Given the description of an element on the screen output the (x, y) to click on. 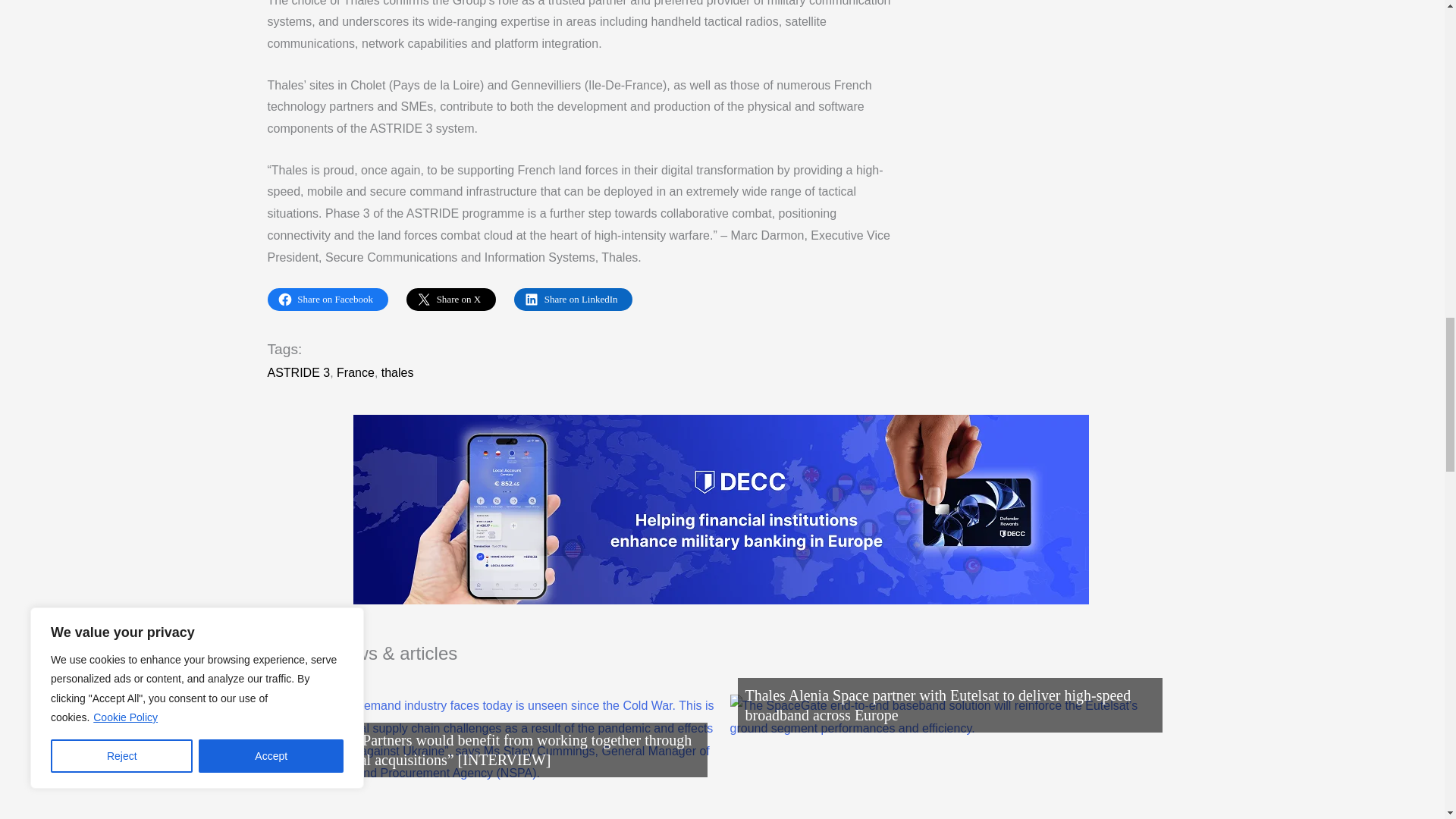
Share on LinkedIn (572, 299)
ASTRIDE 3 (298, 372)
Share on X (451, 299)
Share on Facebook (326, 299)
